Given the description of an element on the screen output the (x, y) to click on. 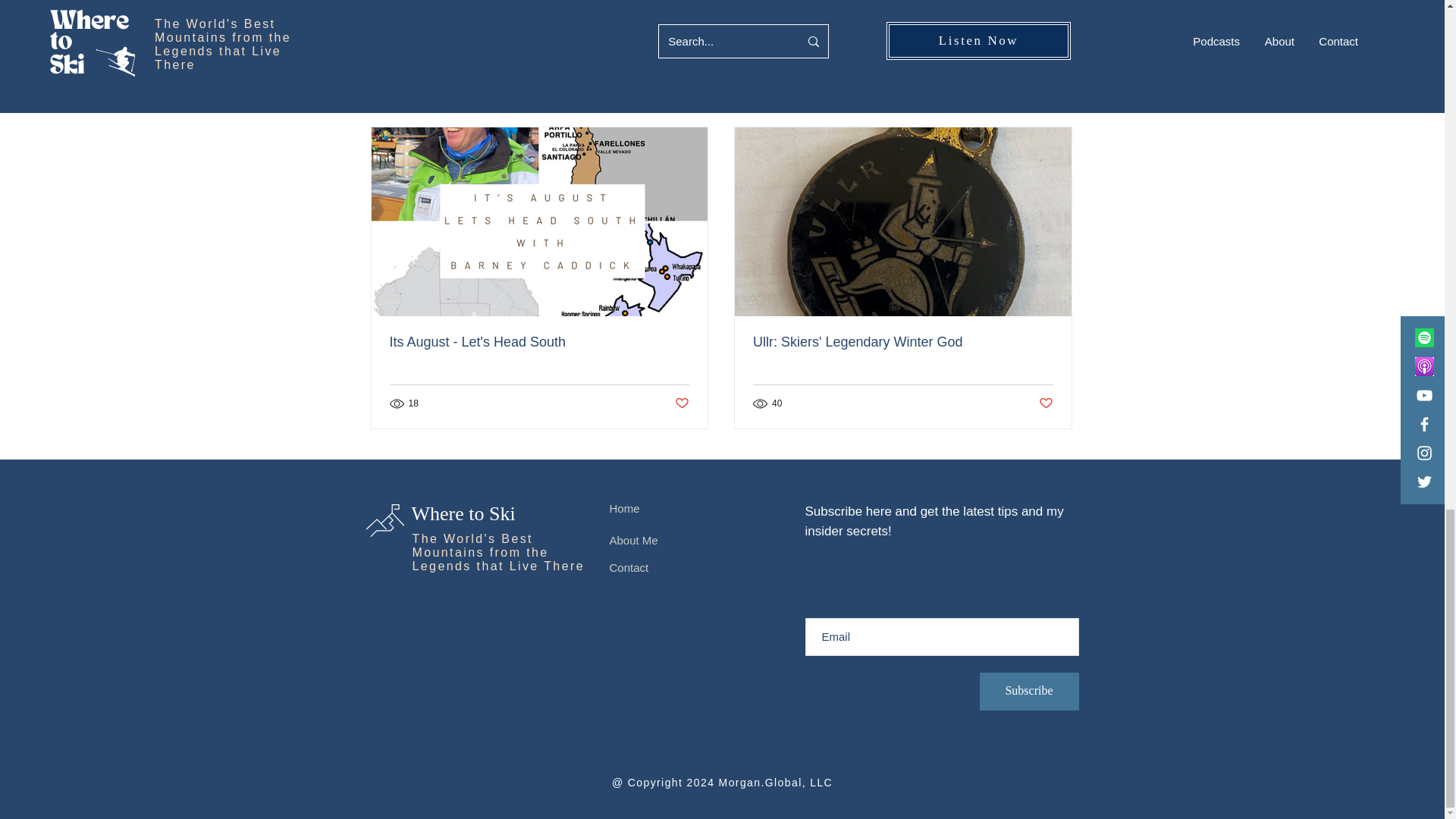
Post not marked as liked (1045, 403)
See All (1055, 100)
About Me (634, 540)
Post not marked as liked (681, 403)
The World's Best Mountains from the Legends that Live There (498, 552)
Post not marked as liked (994, 17)
Where to Ski (462, 513)
Home (625, 508)
Its August - Let's Head South (540, 342)
Ullr: Skiers' Legendary Winter God (902, 342)
